Given the description of an element on the screen output the (x, y) to click on. 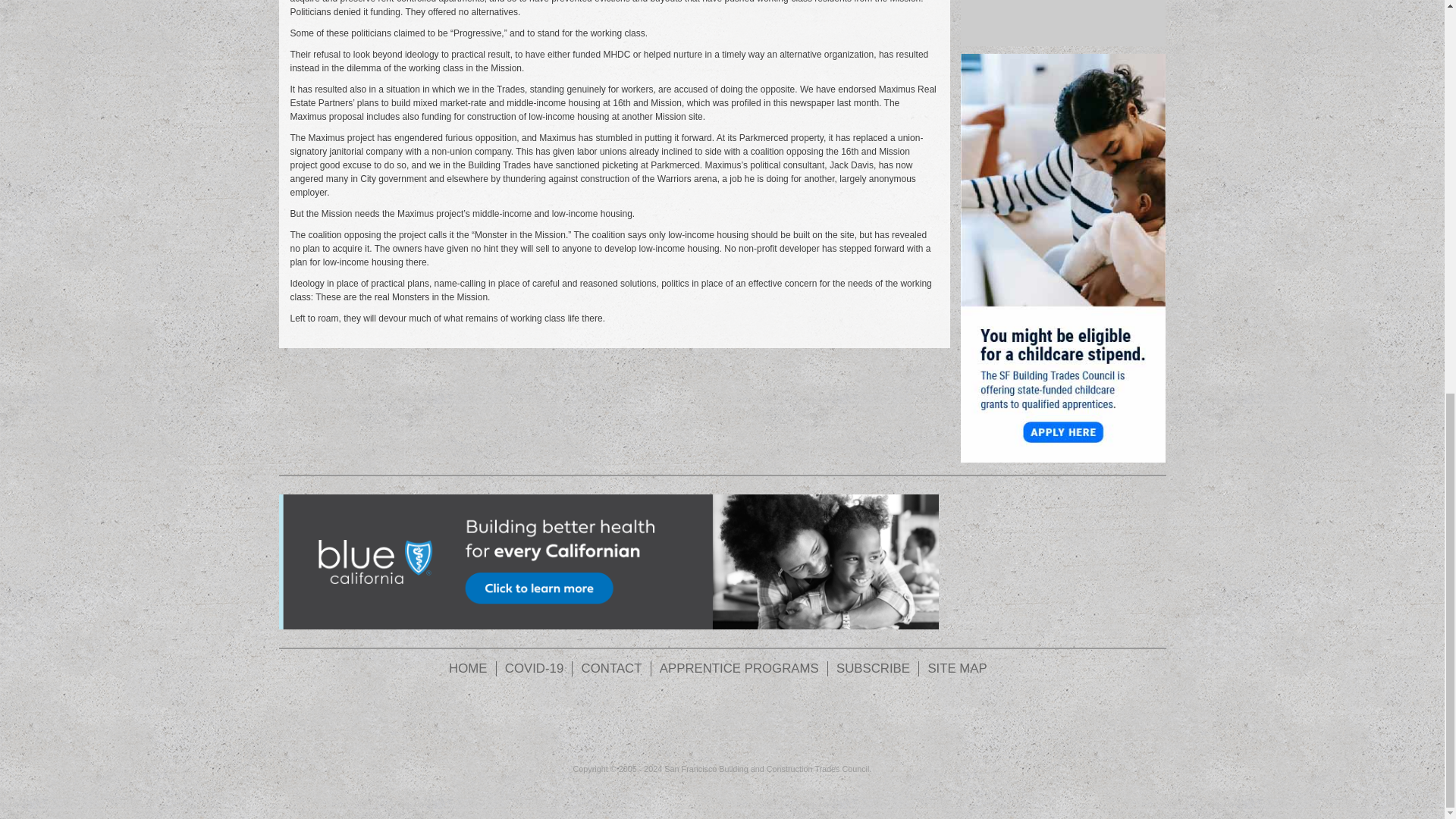
Instagram (807, 721)
Flickr (694, 721)
BLUE SHEILD FOOTER BANNER 3 (609, 561)
Childcare Stipend 1 (1063, 257)
Twitter (750, 721)
Facebook (638, 721)
